Given the description of an element on the screen output the (x, y) to click on. 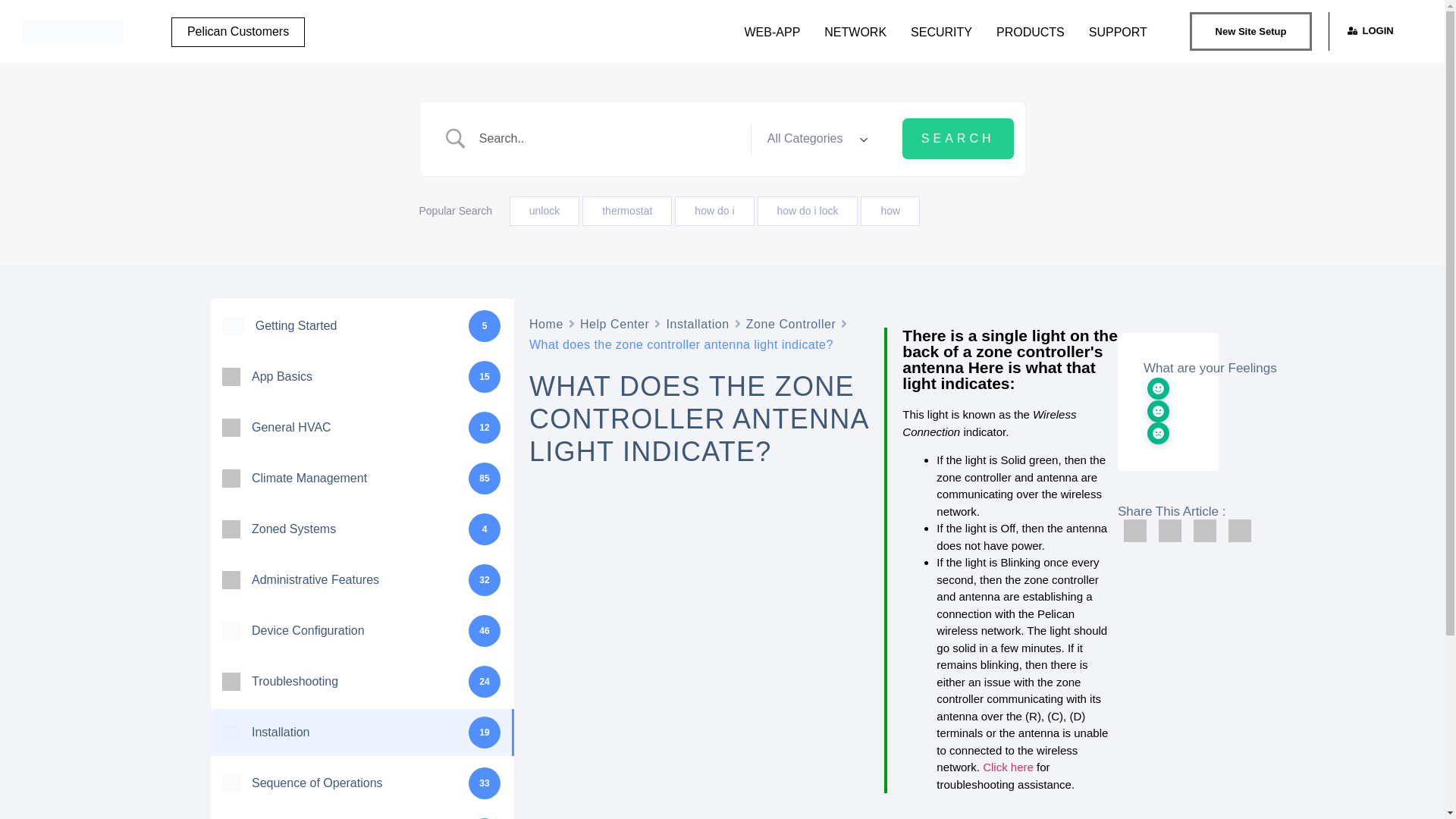
Installation (697, 323)
NETWORK (855, 32)
WEB-APP (772, 32)
Home (546, 323)
SECURITY (941, 32)
Pelican Customers (237, 31)
Search (957, 137)
Zone Controller (790, 323)
Help Center (614, 323)
PRODUCTS (1030, 32)
SUPPORT (1117, 32)
Search (957, 137)
